Given the description of an element on the screen output the (x, y) to click on. 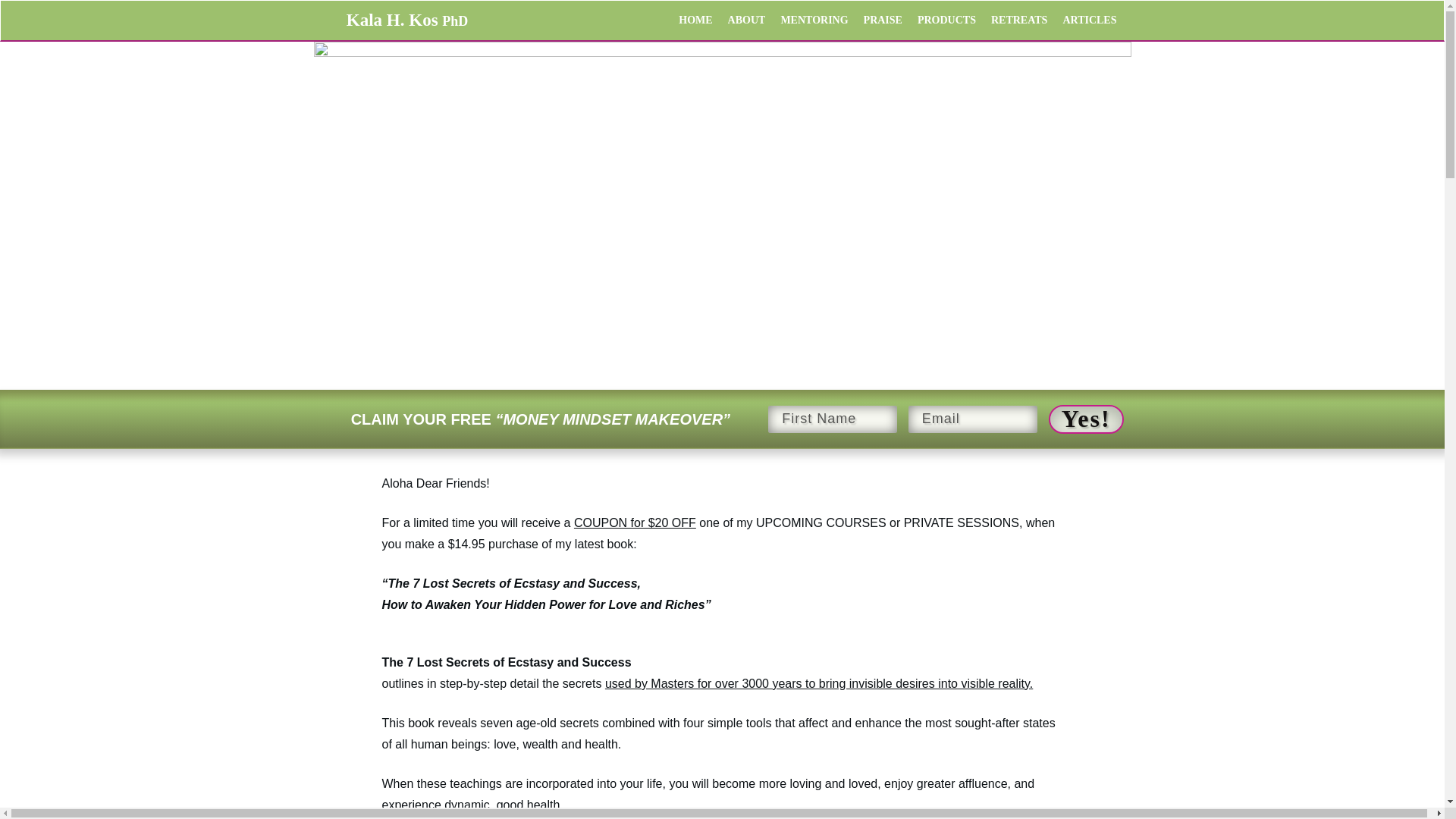
PRAISE (882, 20)
ARTICLES (1089, 20)
MENTORING (813, 20)
PRODUCTS (946, 20)
RETREATS (1018, 20)
HOME (694, 20)
Yes! (1086, 419)
ABOUT (746, 20)
